Given the description of an element on the screen output the (x, y) to click on. 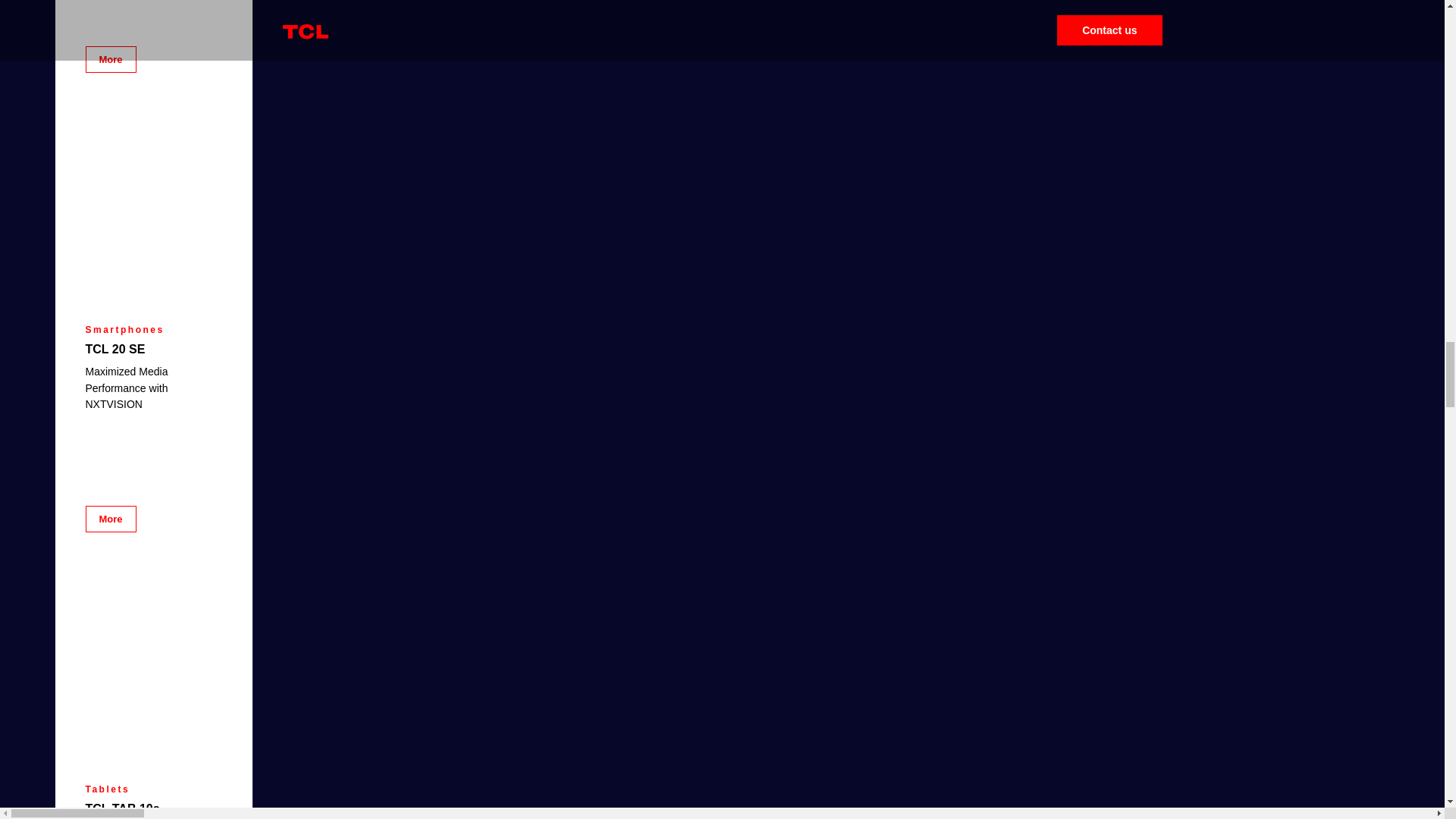
More (109, 58)
More (109, 519)
